Given the description of an element on the screen output the (x, y) to click on. 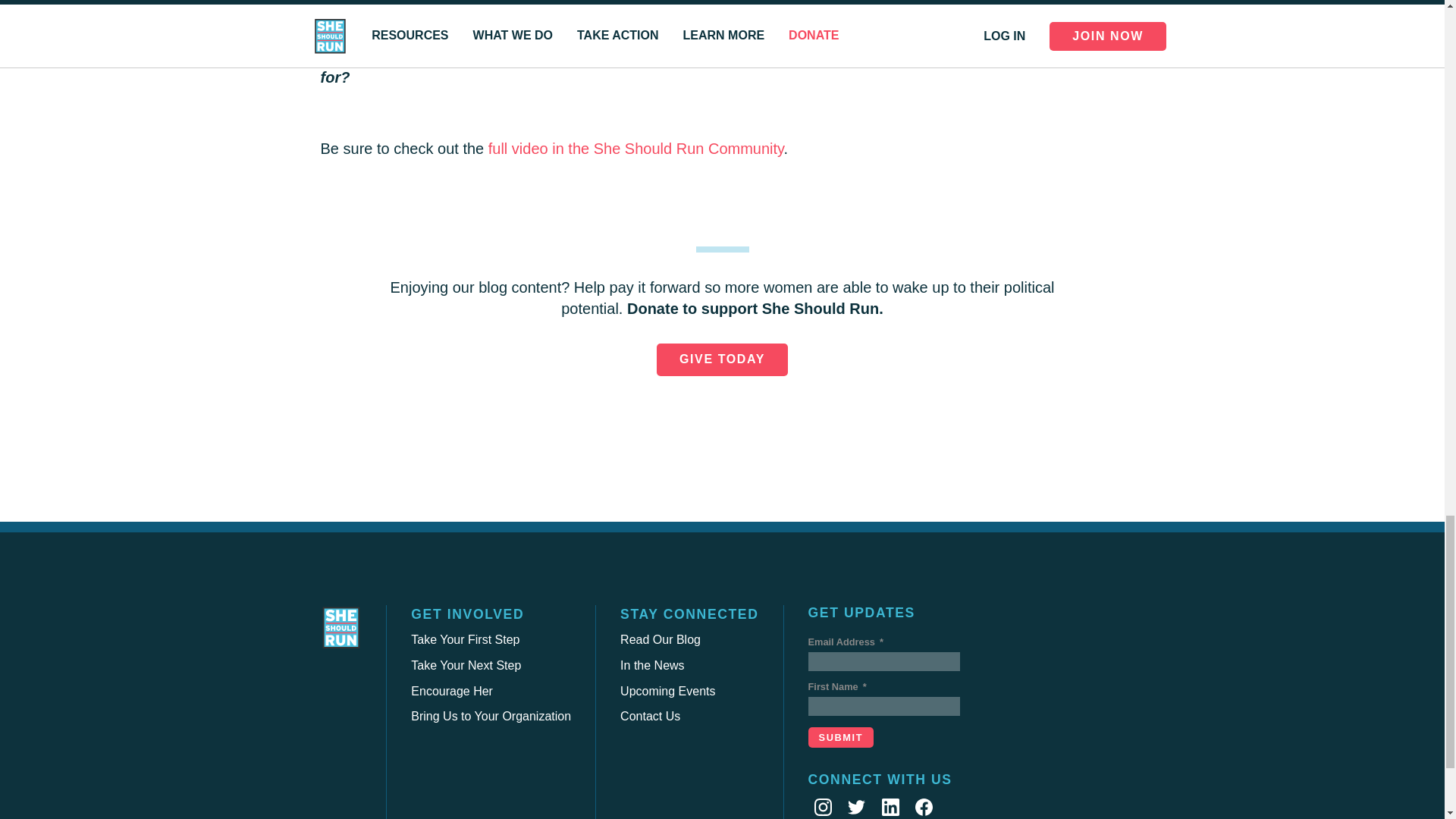
Facebook icon (924, 806)
Take Your Next Step (465, 665)
full video in the She Should Run Community (635, 148)
Take Your First Step (464, 639)
Submit (841, 737)
Bring Us to Your Organization (490, 716)
Read Our Blog (660, 639)
Twitter icon (855, 806)
Instagram icon (822, 806)
Encourage Her (451, 690)
STAY CONNECTED (689, 613)
LinkedIn icon (890, 806)
GIVE TODAY (721, 359)
GET INVOLVED (467, 613)
